Given the description of an element on the screen output the (x, y) to click on. 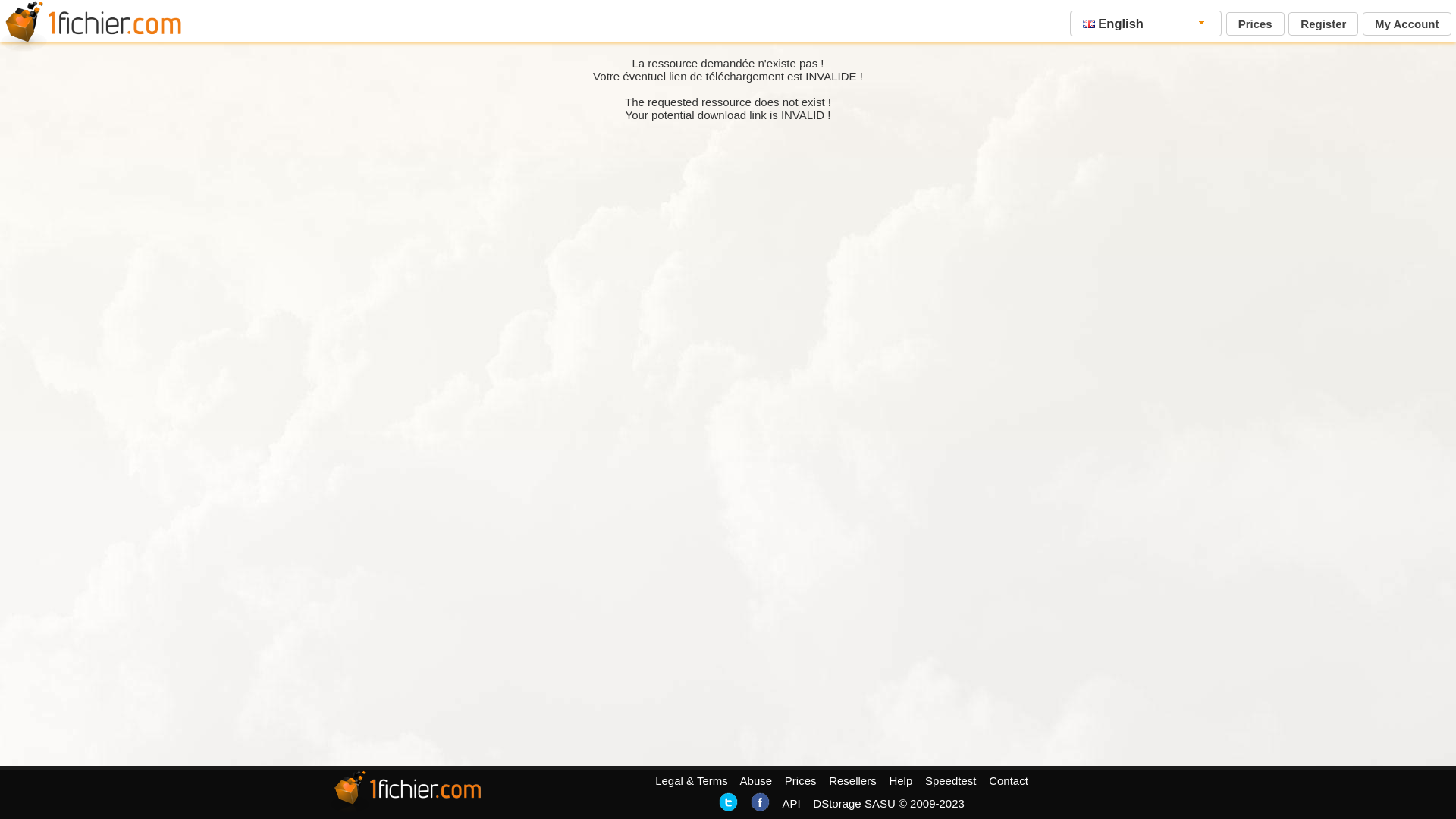
Abuse Element type: text (756, 780)
API Element type: text (790, 803)
Legal & Terms Element type: text (691, 780)
My Account Element type: text (1406, 23)
Contact Element type: text (1008, 780)
Prices Element type: text (1255, 23)
Speedtest Element type: text (950, 780)
Resellers Element type: text (852, 780)
Register Element type: text (1323, 23)
Help Element type: text (900, 780)
Prices Element type: text (800, 780)
